Given the description of an element on the screen output the (x, y) to click on. 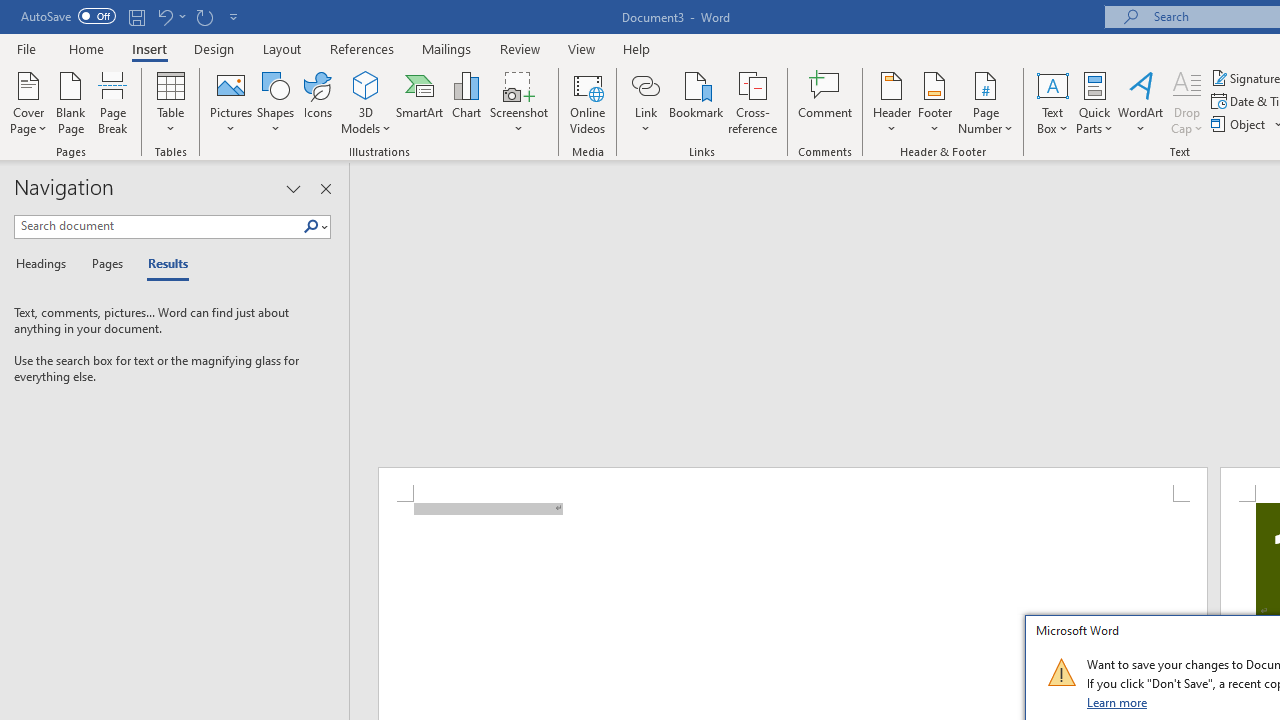
Undo New Page (164, 15)
Cover Page (28, 102)
AutoSave (68, 16)
Object... (1240, 124)
3D Models (366, 102)
Search document (157, 226)
Headings (45, 264)
3D Models (366, 84)
Design (214, 48)
Learn more (1118, 702)
Customize Quick Access Toolbar (234, 15)
Home (86, 48)
Header -Section 1- (792, 485)
Class: NetUIImage (1061, 671)
Text Box (1052, 102)
